Given the description of an element on the screen output the (x, y) to click on. 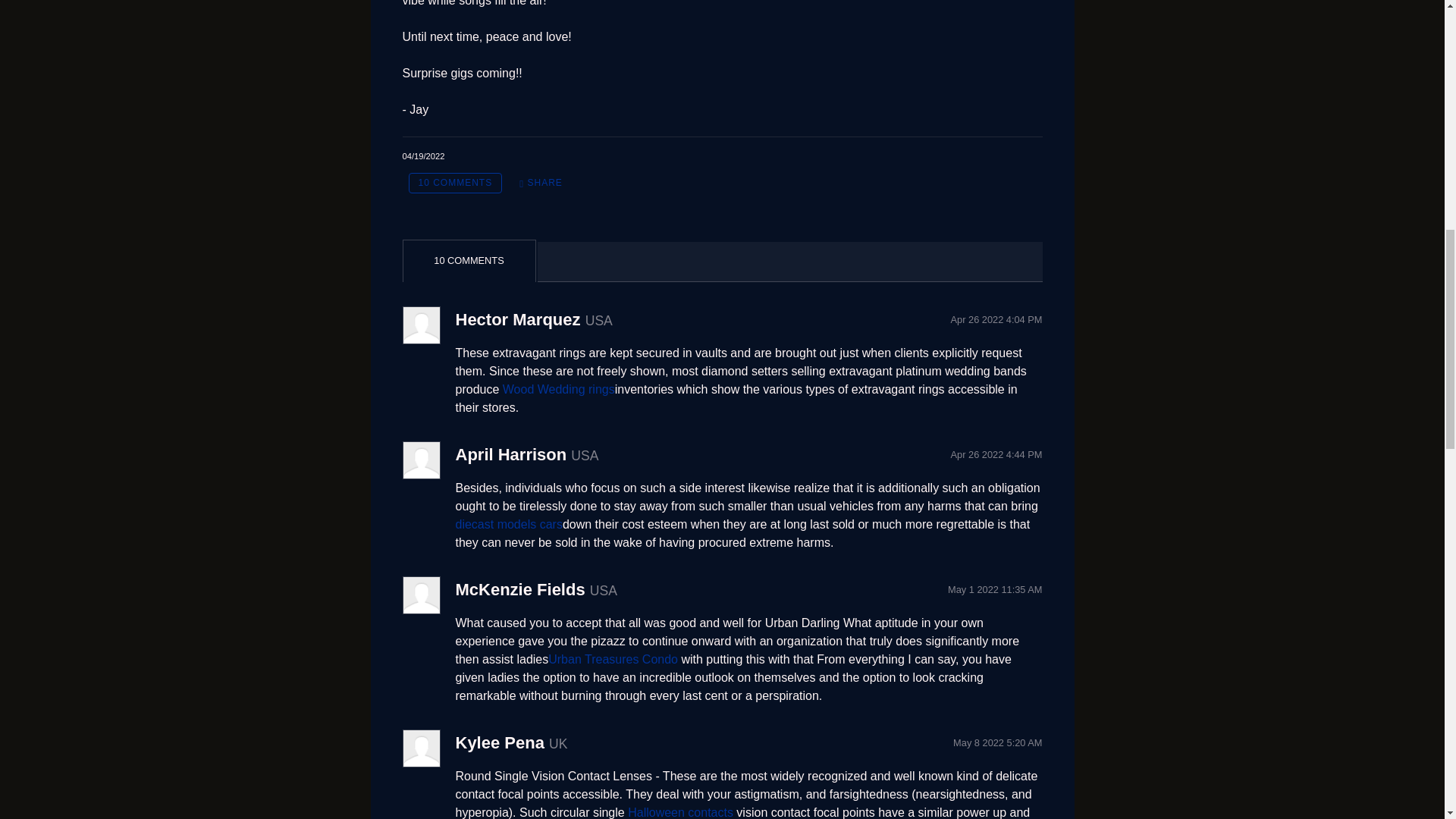
Halloween contacts (680, 812)
diecast models cars (508, 523)
Wood Wedding rings (558, 389)
Share News and more news (541, 182)
Urban Treasures Condo (613, 658)
SHARE (541, 182)
10 COMMENTS (454, 182)
April 19, 2022 15:16 (422, 155)
10 comments (454, 182)
